Given the description of an element on the screen output the (x, y) to click on. 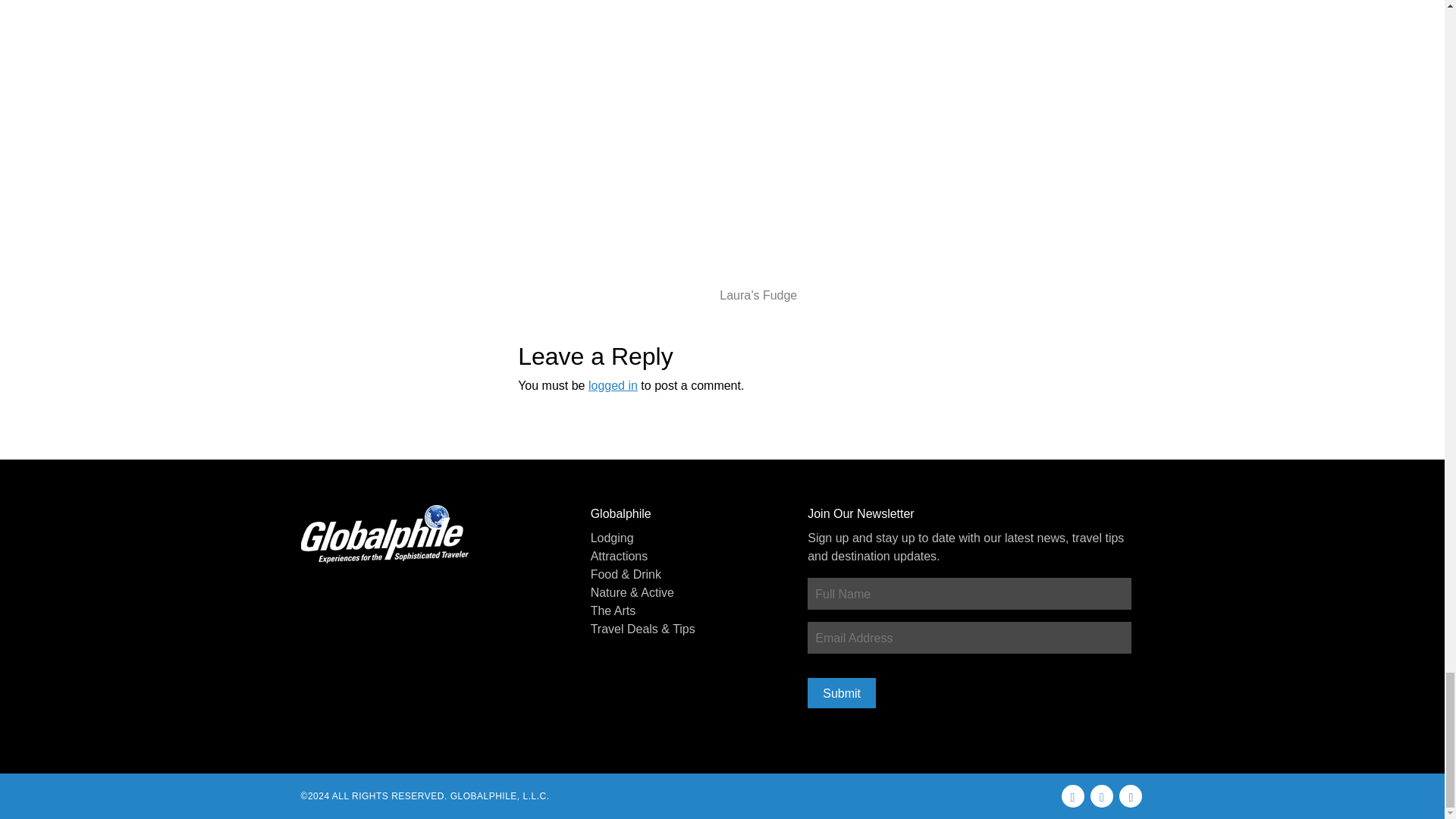
Lodging (686, 538)
Submit (842, 693)
Submit (842, 693)
logged in (612, 385)
Attractions (686, 556)
The Arts (686, 610)
